Given the description of an element on the screen output the (x, y) to click on. 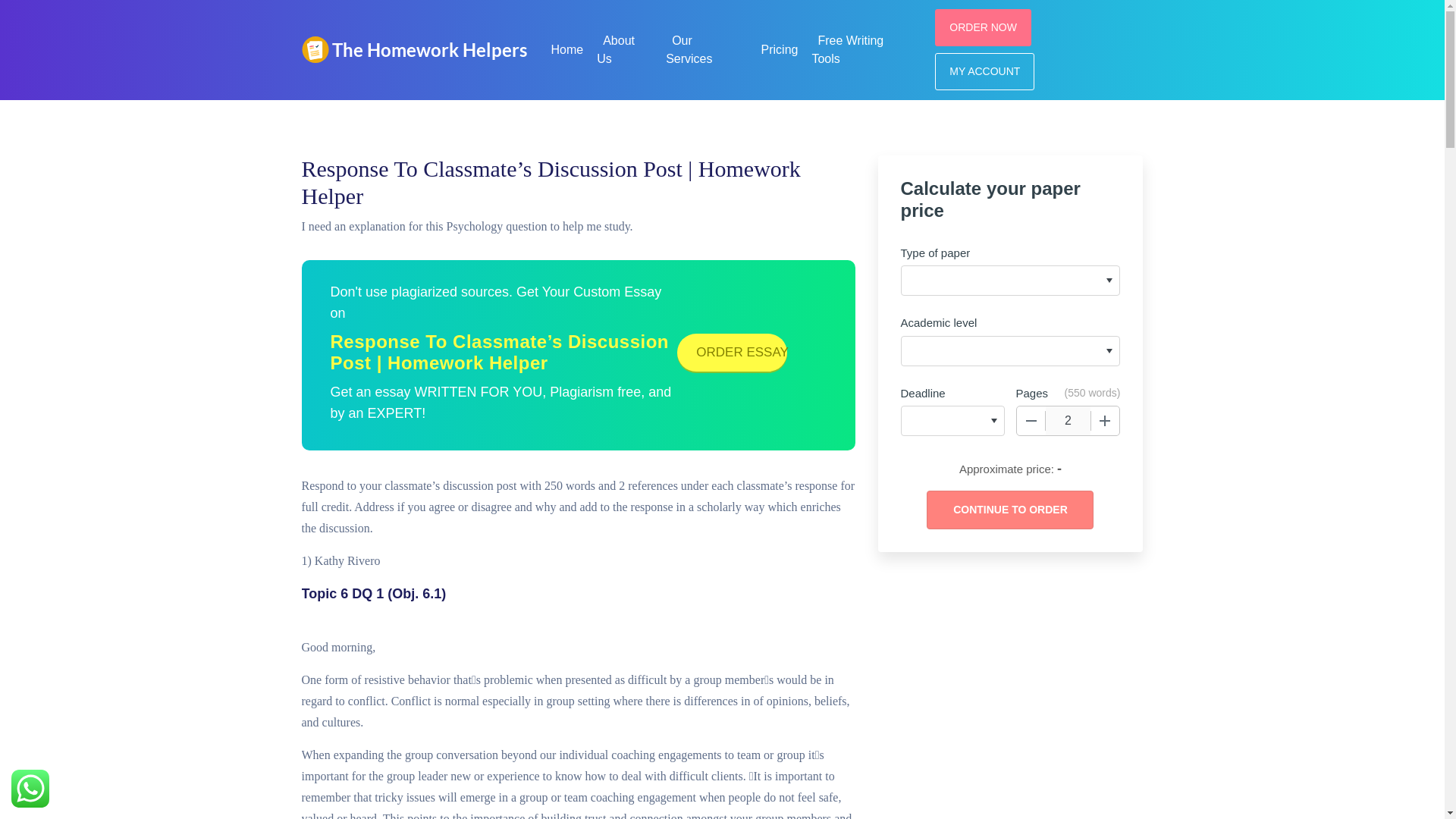
MY ACCOUNT (983, 71)
ORDER NOW (982, 27)
Continue to order (1009, 509)
Decrease (1030, 420)
Free Writing Tools (846, 47)
Pricing (780, 47)
Our Services (691, 47)
Home (566, 47)
Free Writing Tools (846, 47)
About Us (615, 47)
